Given the description of an element on the screen output the (x, y) to click on. 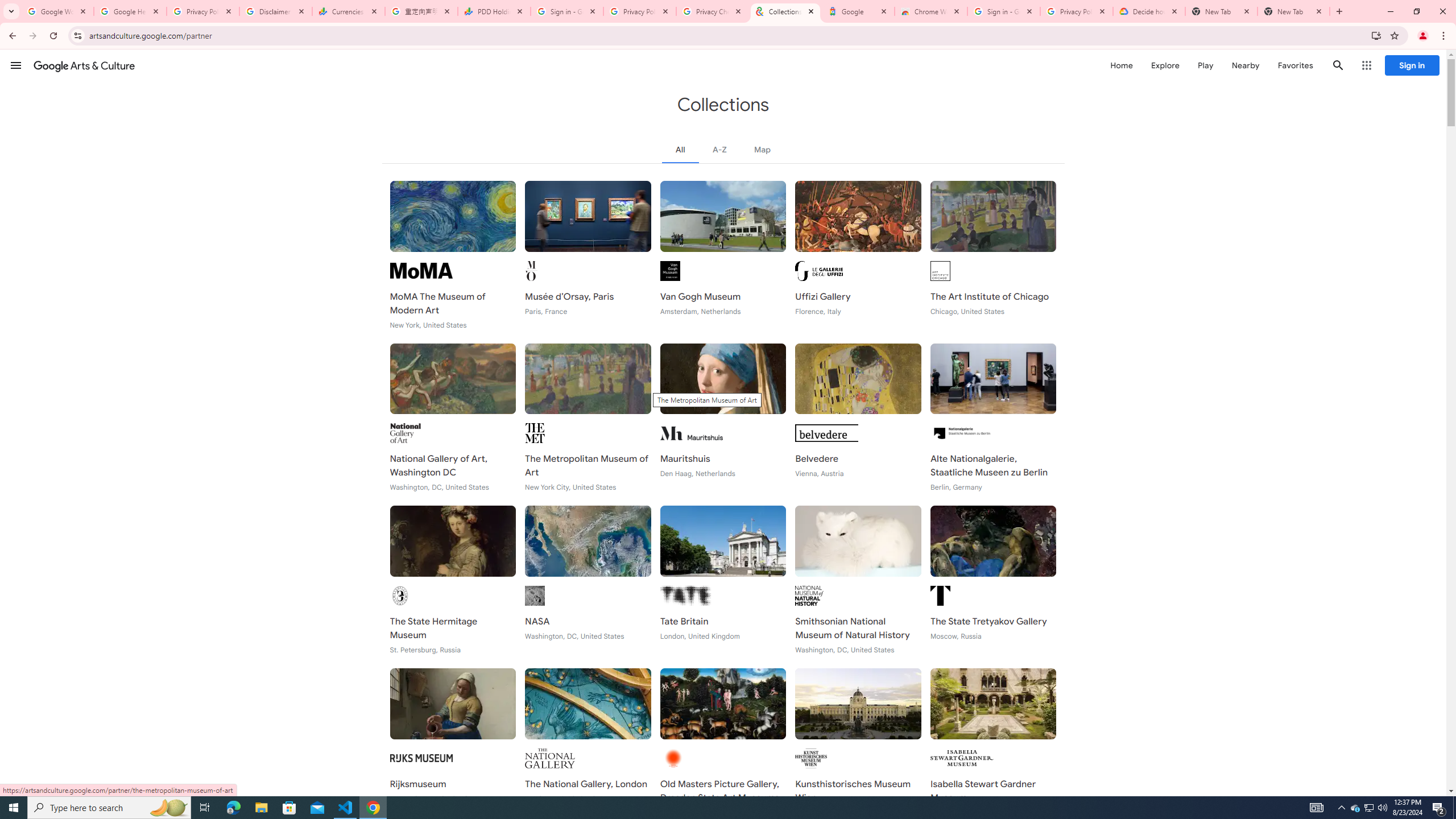
Privacy Checkup (712, 11)
Google (857, 11)
The State Hermitage Museum St. Petersburg, Russia (453, 579)
MoMA The Museum of Modern Art New York, United States (453, 255)
Isabella Stewart Gardner Museum Boston, United States (993, 742)
The National Gallery, London London, United Kingdom (587, 742)
Rijksmuseum Amsterdam, Netherlands (453, 742)
